Given the description of an element on the screen output the (x, y) to click on. 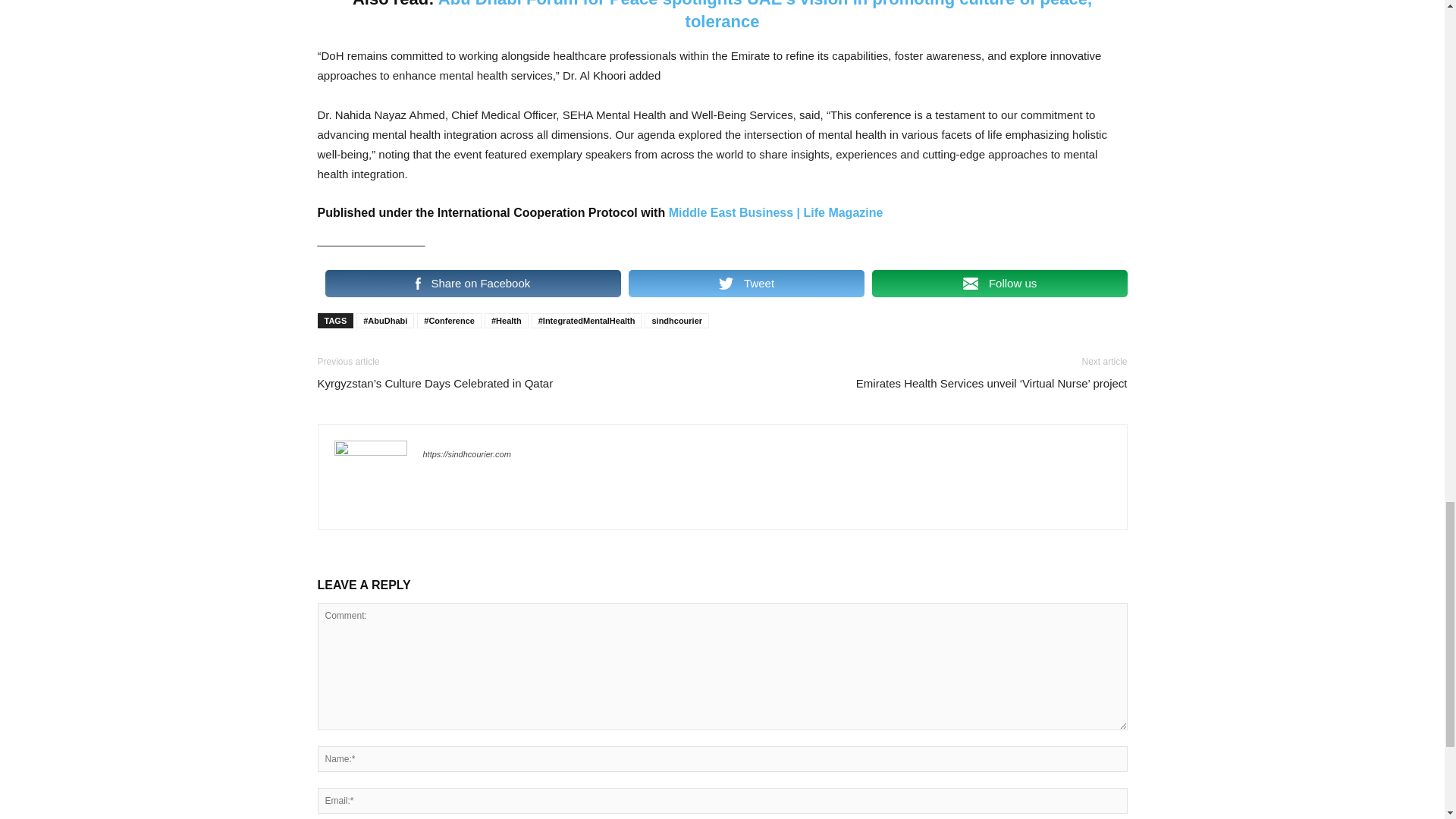
Follow us (999, 283)
Share on Facebook (472, 283)
Tweet (746, 283)
